Given the description of an element on the screen output the (x, y) to click on. 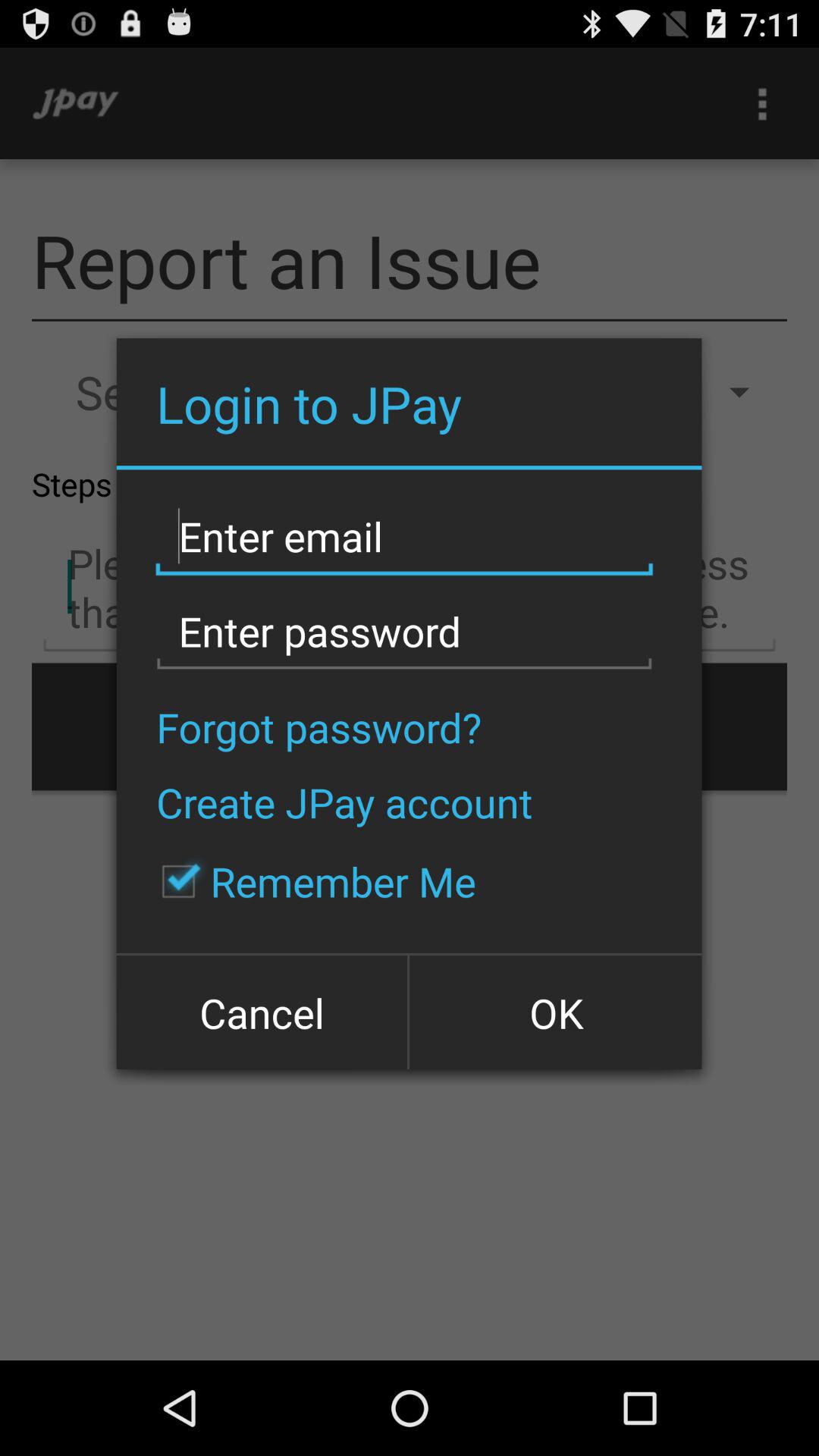
open the forgot password? icon (318, 726)
